Given the description of an element on the screen output the (x, y) to click on. 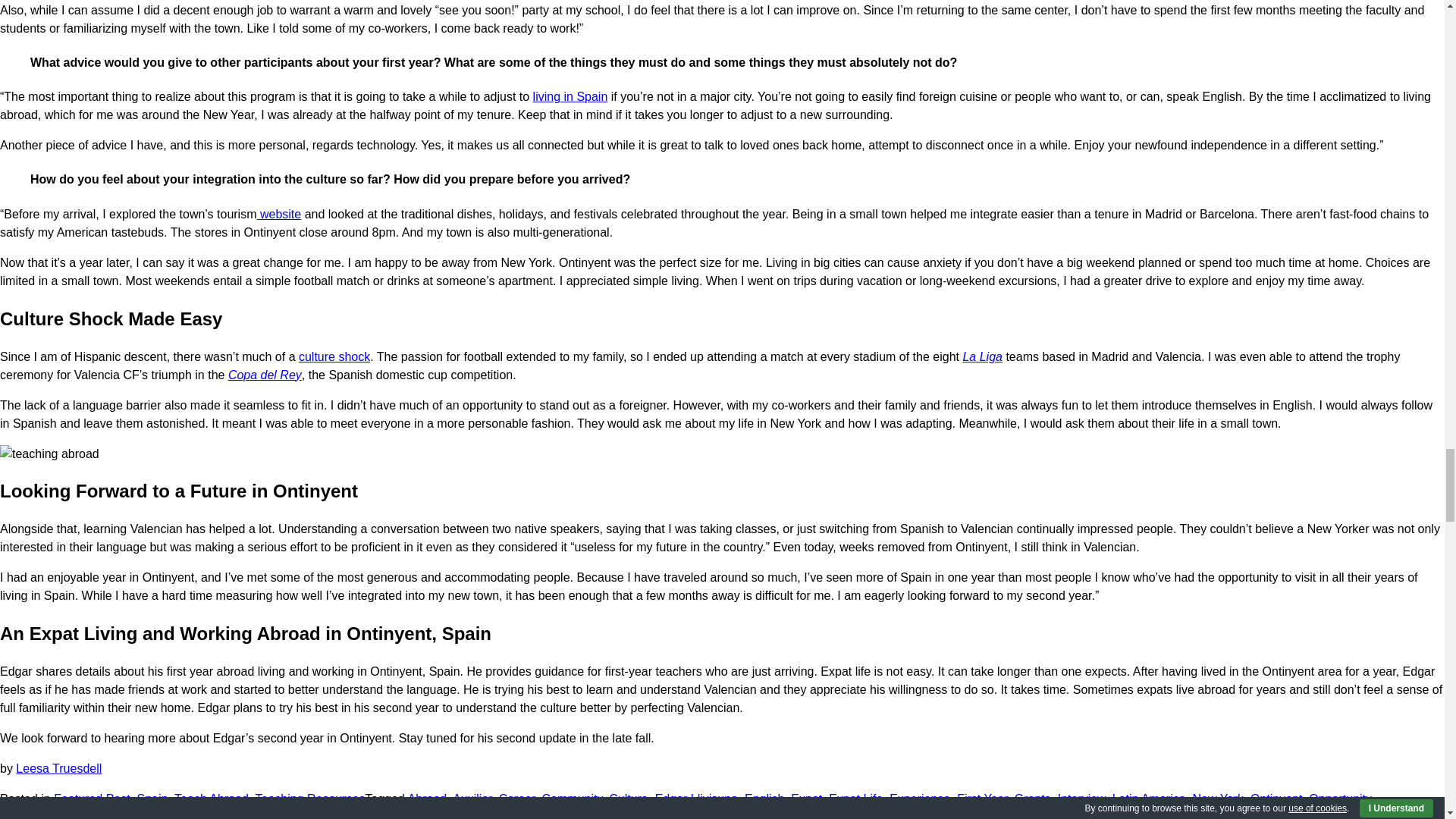
teaching abroad (49, 454)
